Given the description of an element on the screen output the (x, y) to click on. 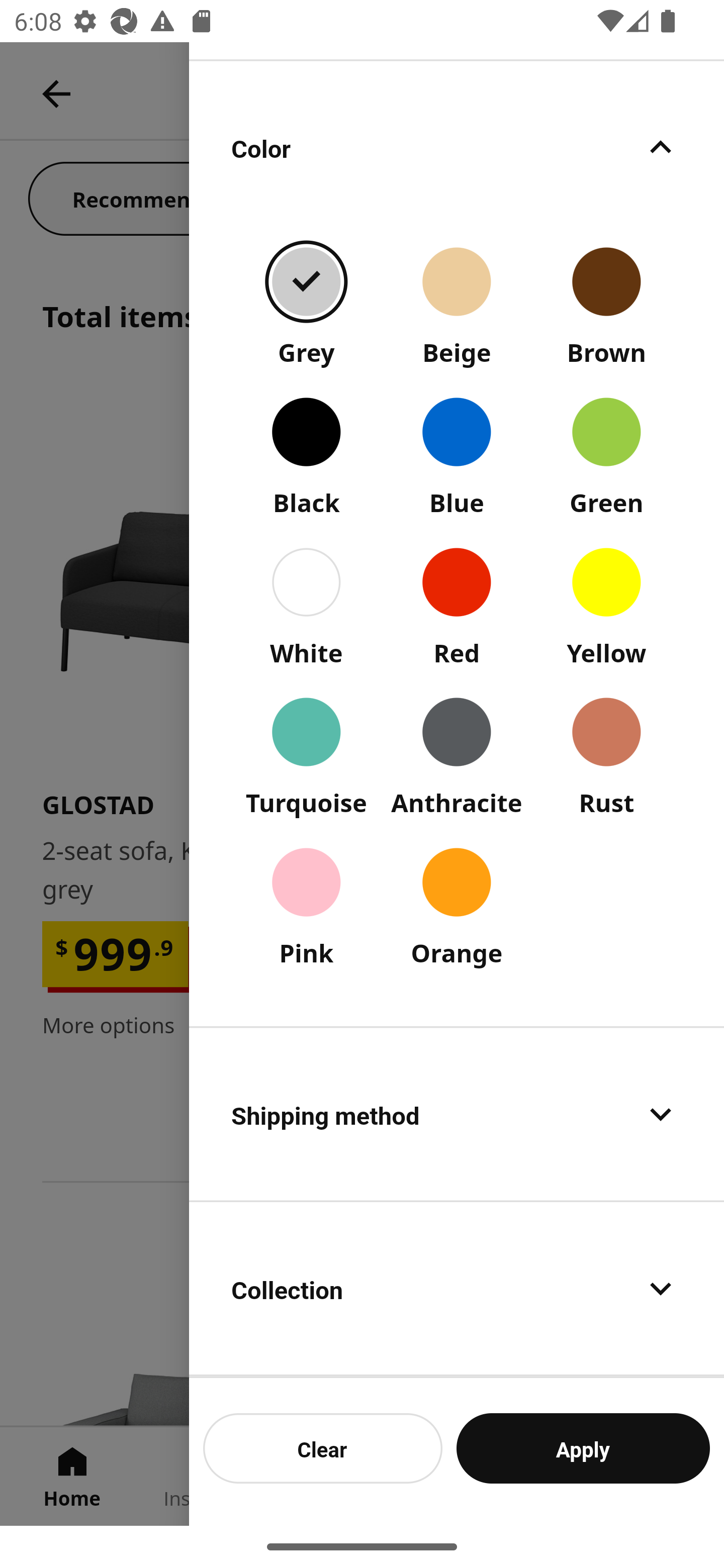
Color (456, 147)
Shipping method (456, 1113)
Collection (456, 1288)
Clear (322, 1447)
Apply (583, 1447)
